Given the description of an element on the screen output the (x, y) to click on. 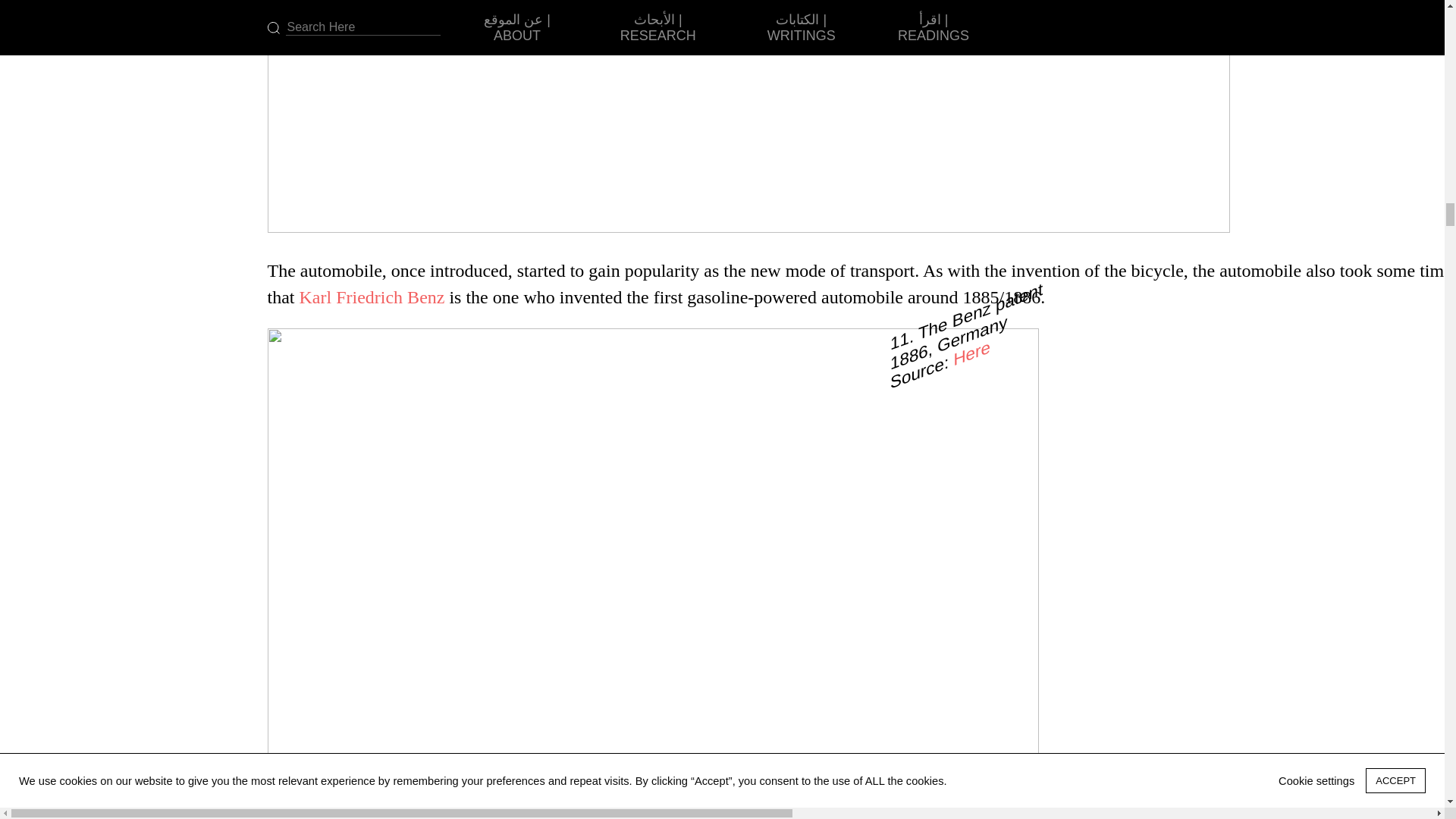
Karl Friedrich Benz (371, 297)
Here (971, 346)
